Given the description of an element on the screen output the (x, y) to click on. 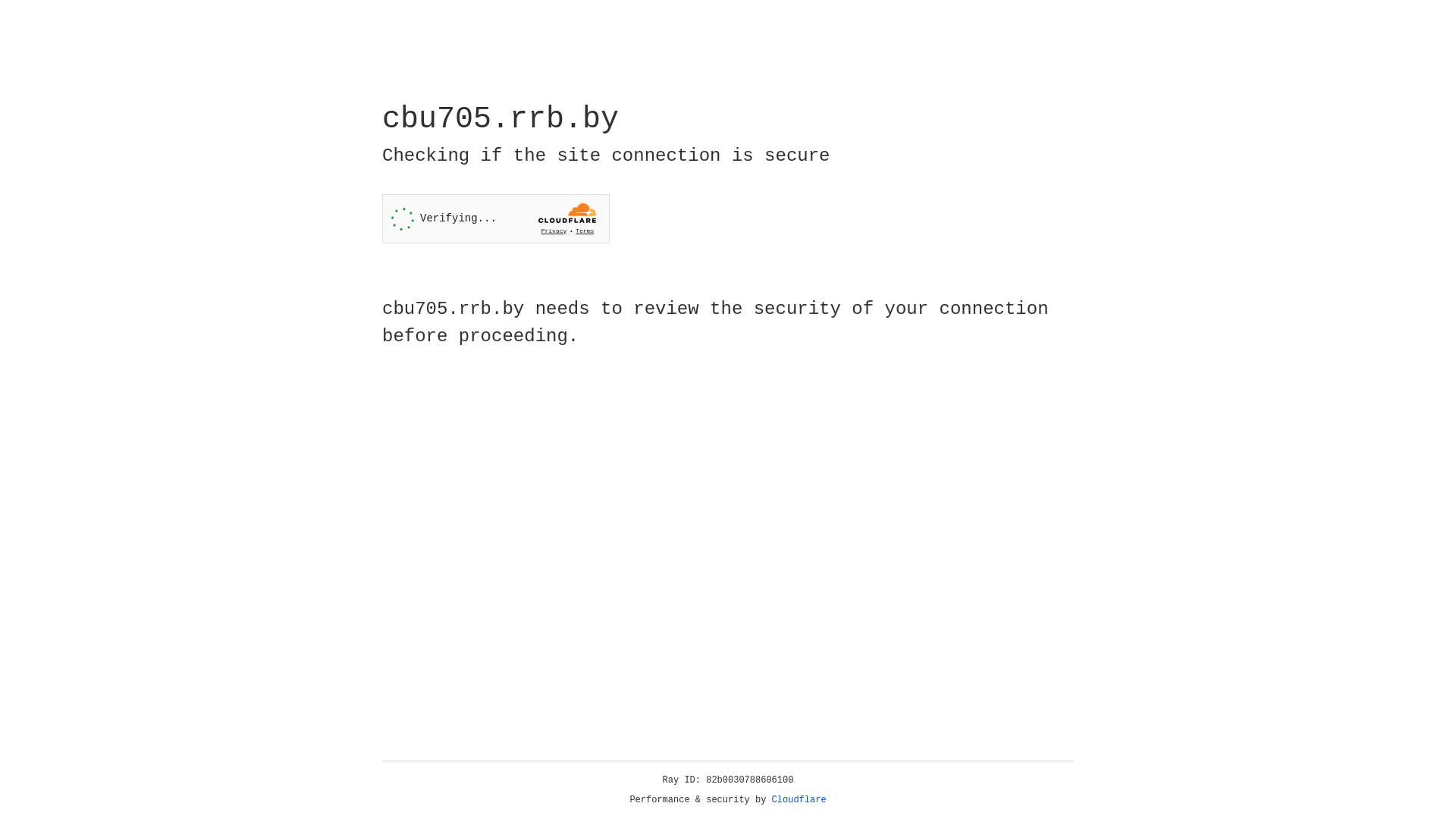
Cloudflare Element type: text (798, 799)
Widget containing a Cloudflare security challenge Element type: hover (495, 218)
